Given the description of an element on the screen output the (x, y) to click on. 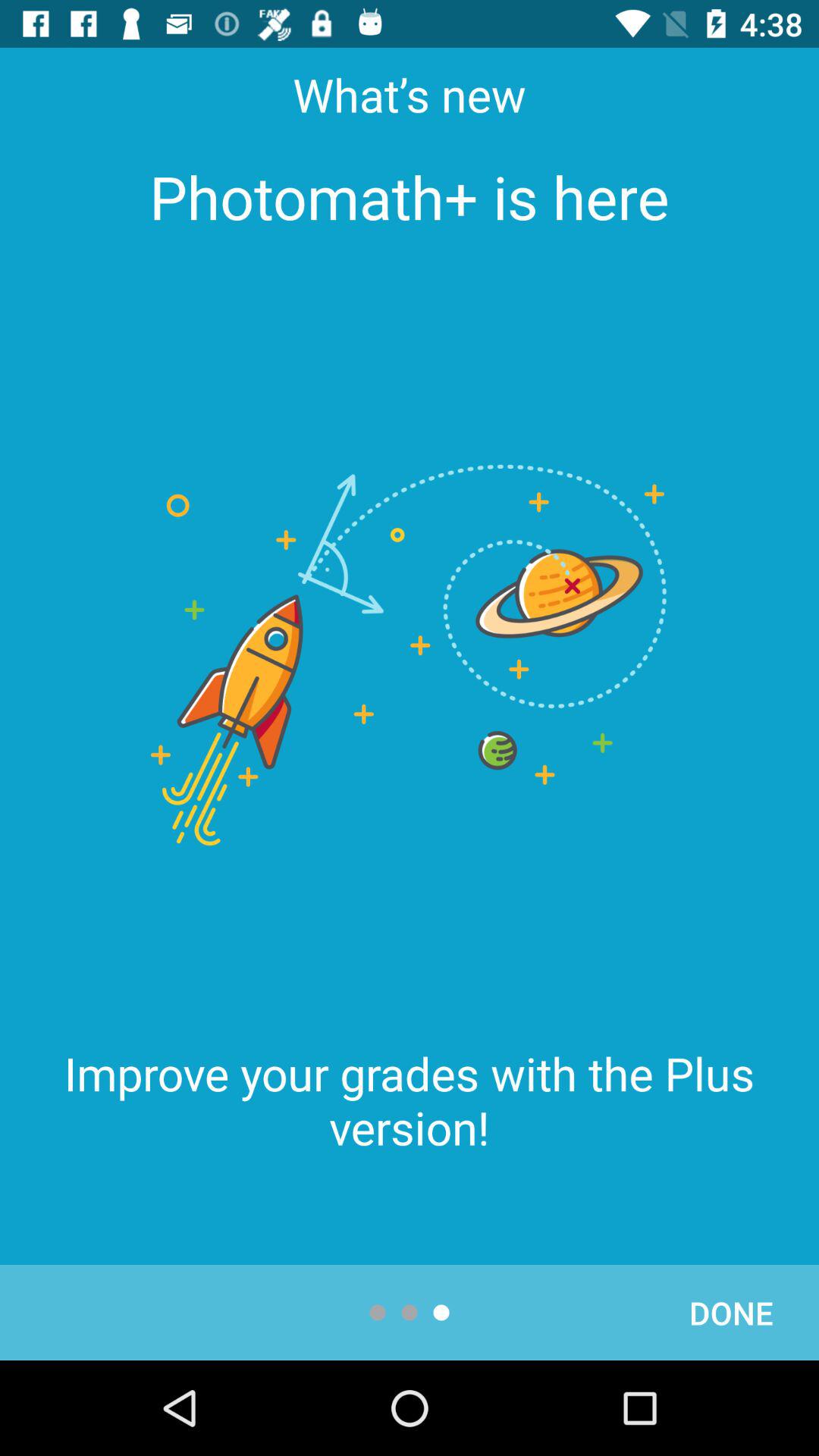
select item below improve your grades icon (731, 1312)
